Given the description of an element on the screen output the (x, y) to click on. 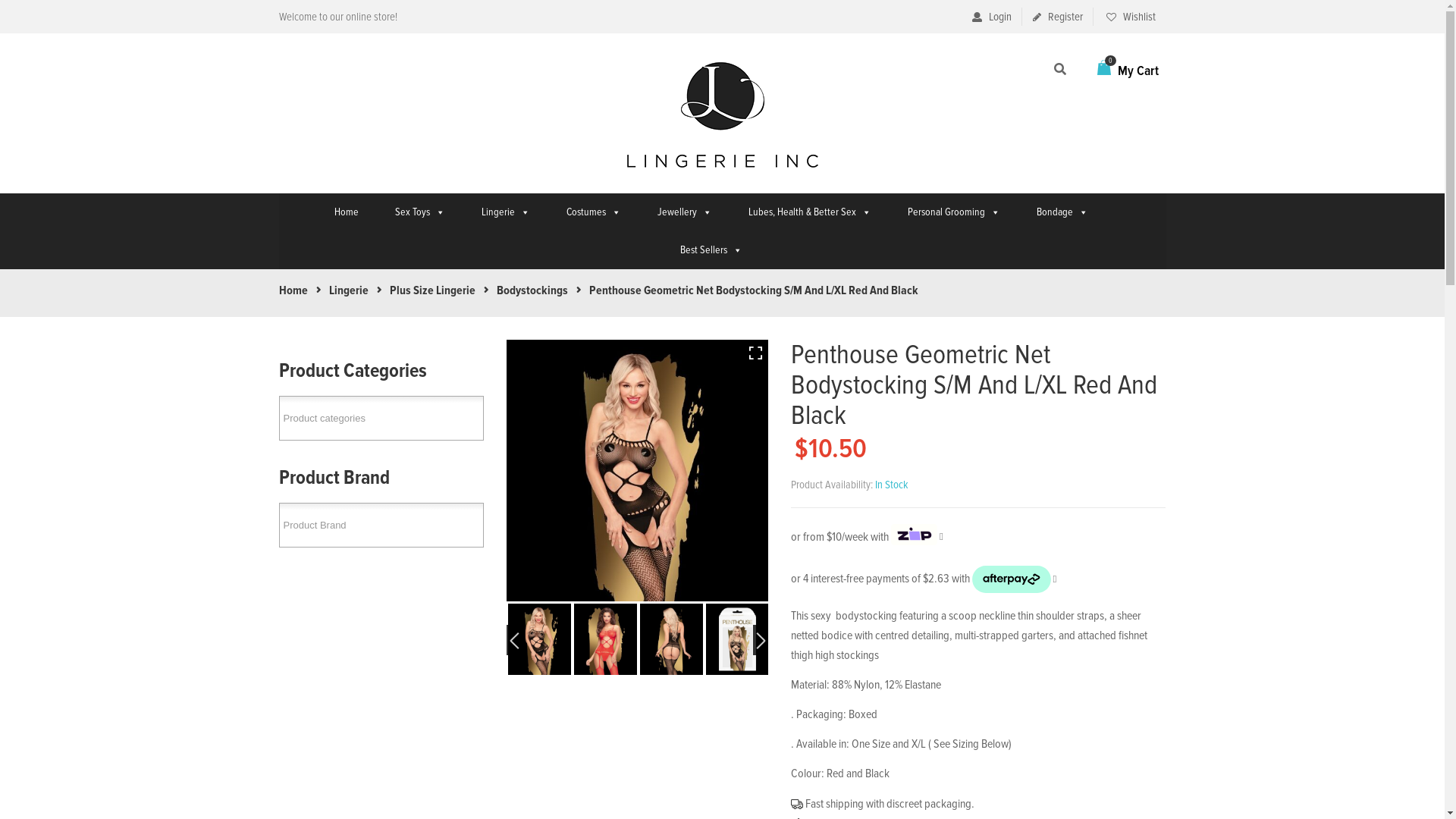
Personal Grooming Element type: text (953, 212)
Bondage Element type: text (1062, 212)
Lingerie Element type: text (348, 290)
Sex Toys Element type: text (419, 212)
Costumes Element type: text (593, 212)
Login Element type: text (991, 16)
Home Element type: text (346, 212)
0
My Cart Element type: text (1126, 70)
hot.j2 Element type: hover (671, 638)
hot Element type: hover (374, 470)
hot.j3 Element type: hover (736, 638)
hot Element type: hover (637, 470)
Plus Size Lingerie Element type: text (432, 290)
Lingerie Element type: text (505, 212)
Wishlist Element type: text (1130, 16)
Register Element type: text (1057, 16)
Bodystockings Element type: text (531, 290)
hot.j4 Element type: hover (604, 638)
hot Element type: hover (539, 638)
Jewellery Element type: text (684, 212)
Lubes, Health & Better Sex Element type: text (809, 212)
Home Element type: text (293, 290)
Best Sellers Element type: text (711, 250)
